Given the description of an element on the screen output the (x, y) to click on. 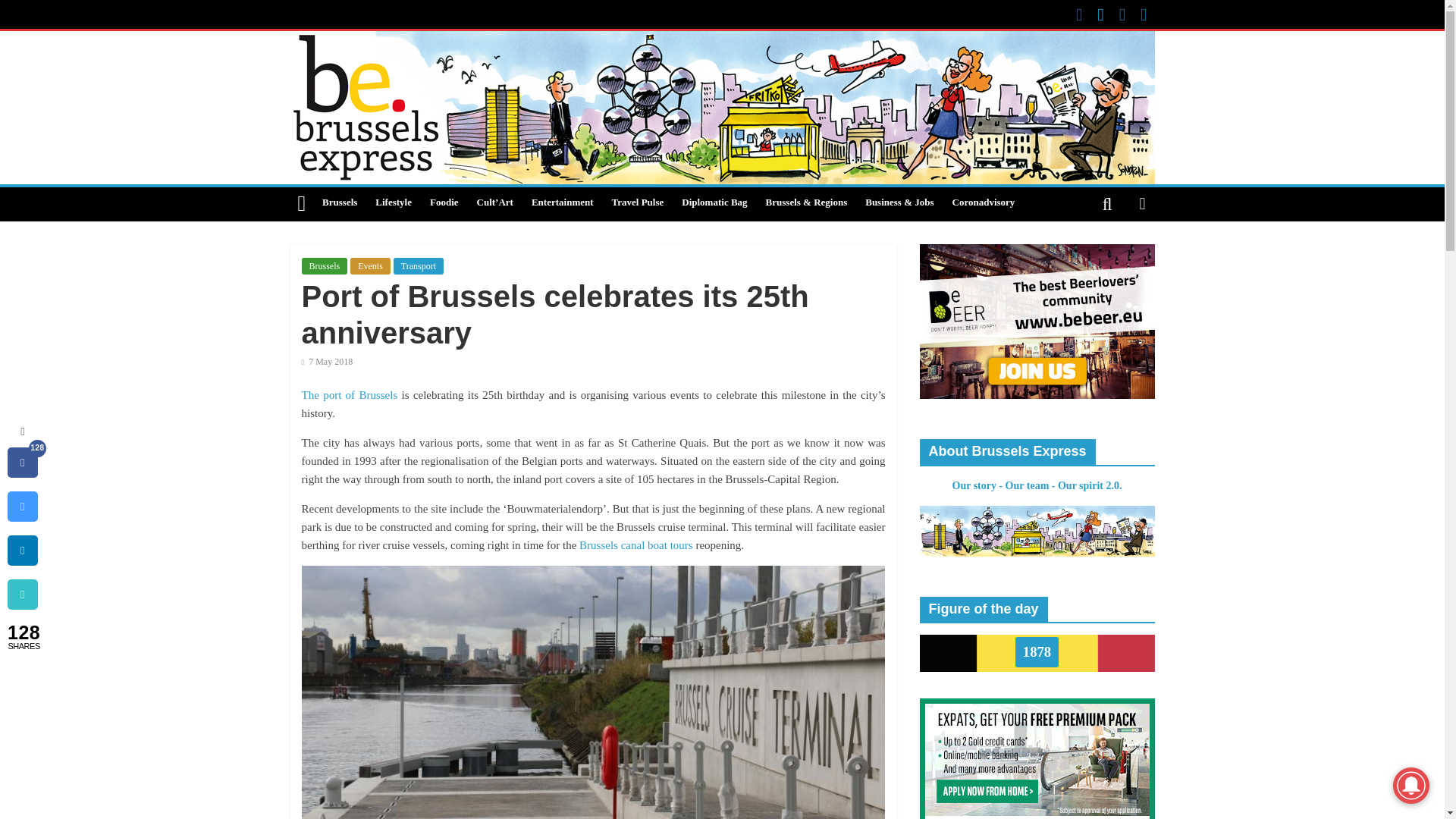
Transport (418, 265)
Lifestyle (393, 202)
10 h 29 min (327, 361)
7 May 2018 (327, 361)
Coronadvisory (984, 202)
Brussels (324, 265)
Foodie (443, 202)
1878 (1036, 652)
The port of Brussels (349, 395)
Events (370, 265)
